Given the description of an element on the screen output the (x, y) to click on. 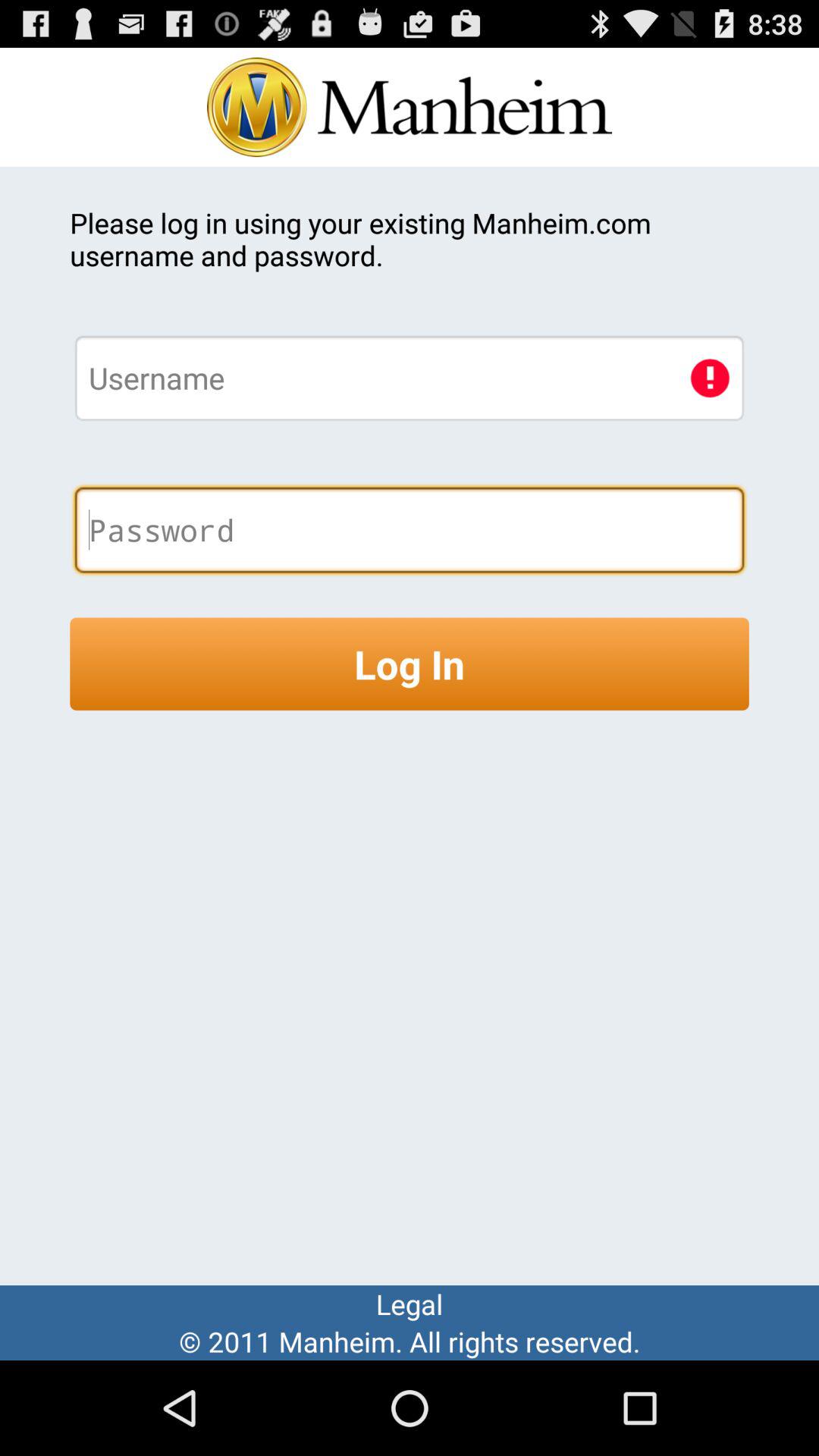
select the icon below log in item (409, 1303)
